Given the description of an element on the screen output the (x, y) to click on. 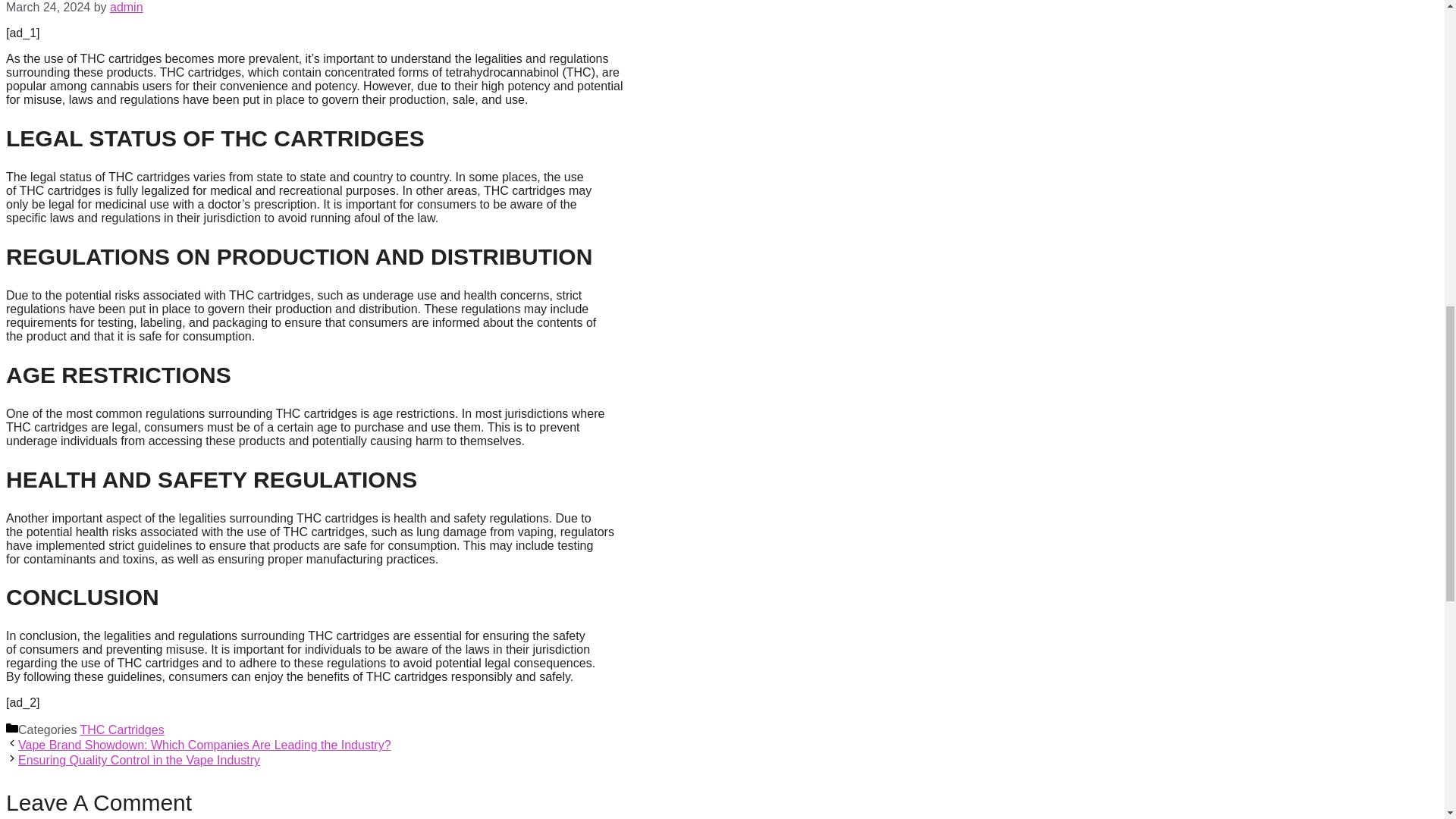
Ensuring Quality Control in the Vape Industry (138, 759)
View all posts by admin (126, 6)
THC Cartridges (122, 729)
admin (126, 6)
